Given the description of an element on the screen output the (x, y) to click on. 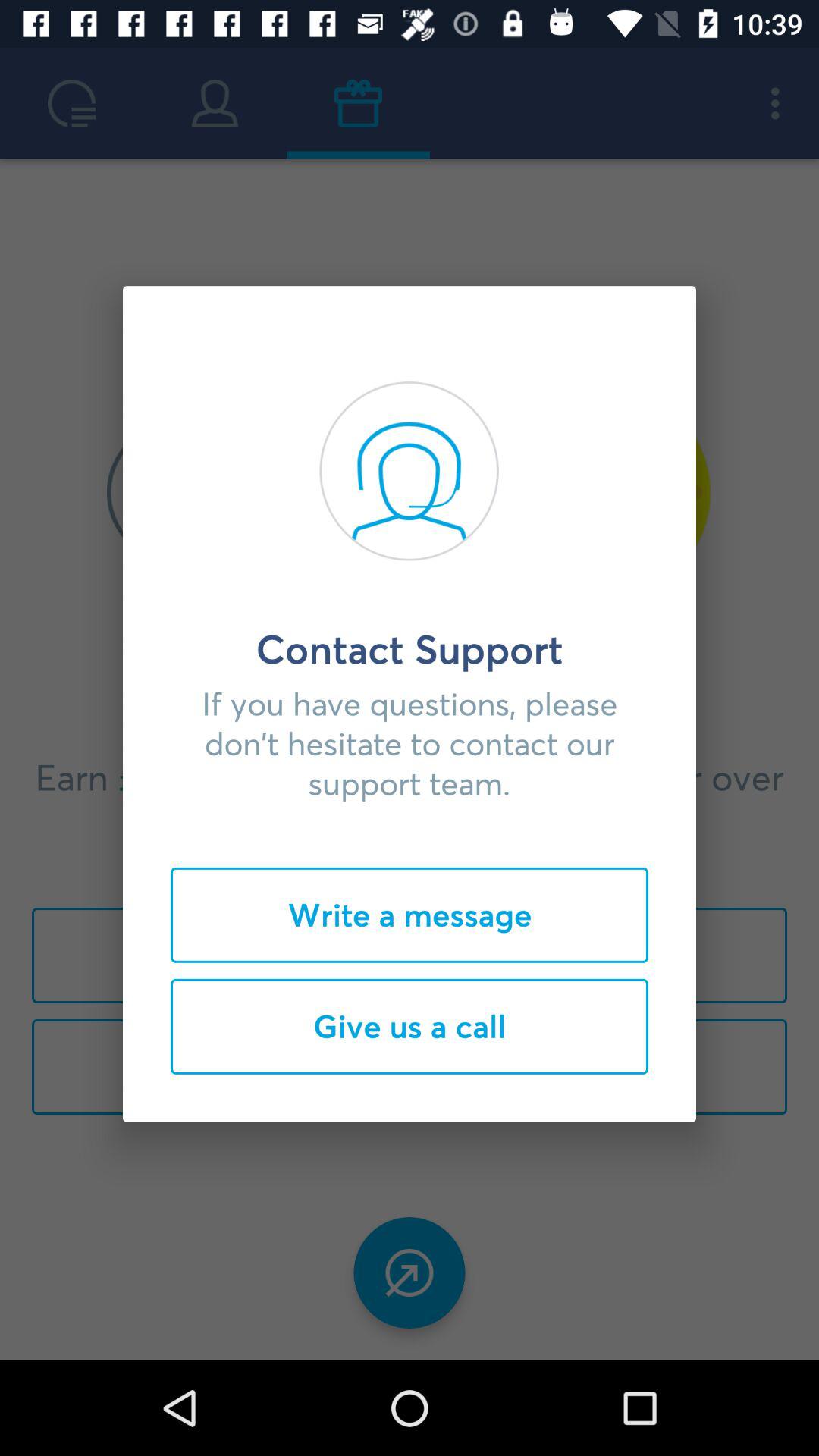
select icon below the write a message item (409, 1026)
